Given the description of an element on the screen output the (x, y) to click on. 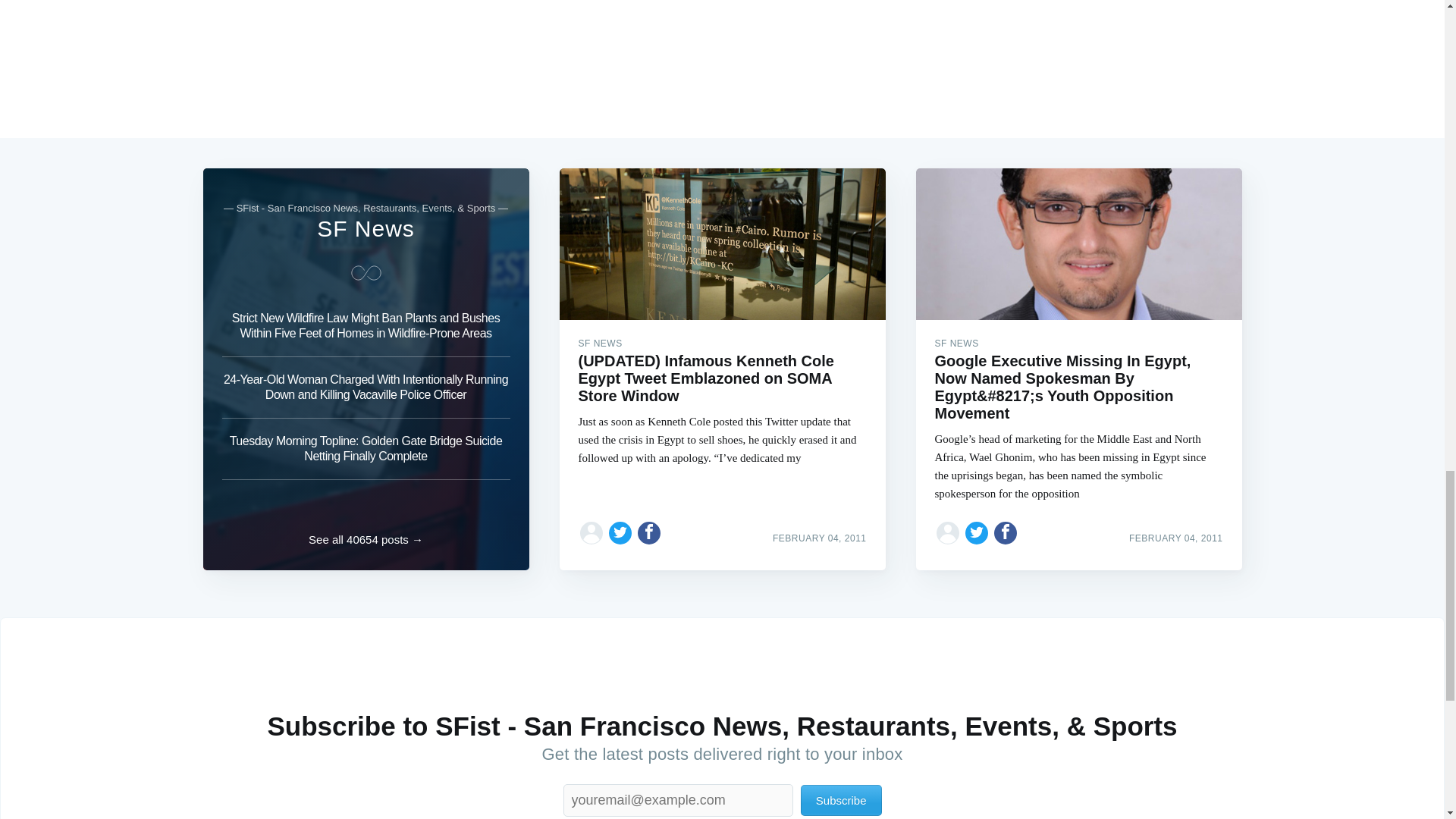
Share on Twitter (976, 533)
Share on Twitter (620, 533)
Share on Facebook (1004, 533)
Share on Facebook (649, 533)
Subscribe (841, 799)
SF News (365, 228)
